Given the description of an element on the screen output the (x, y) to click on. 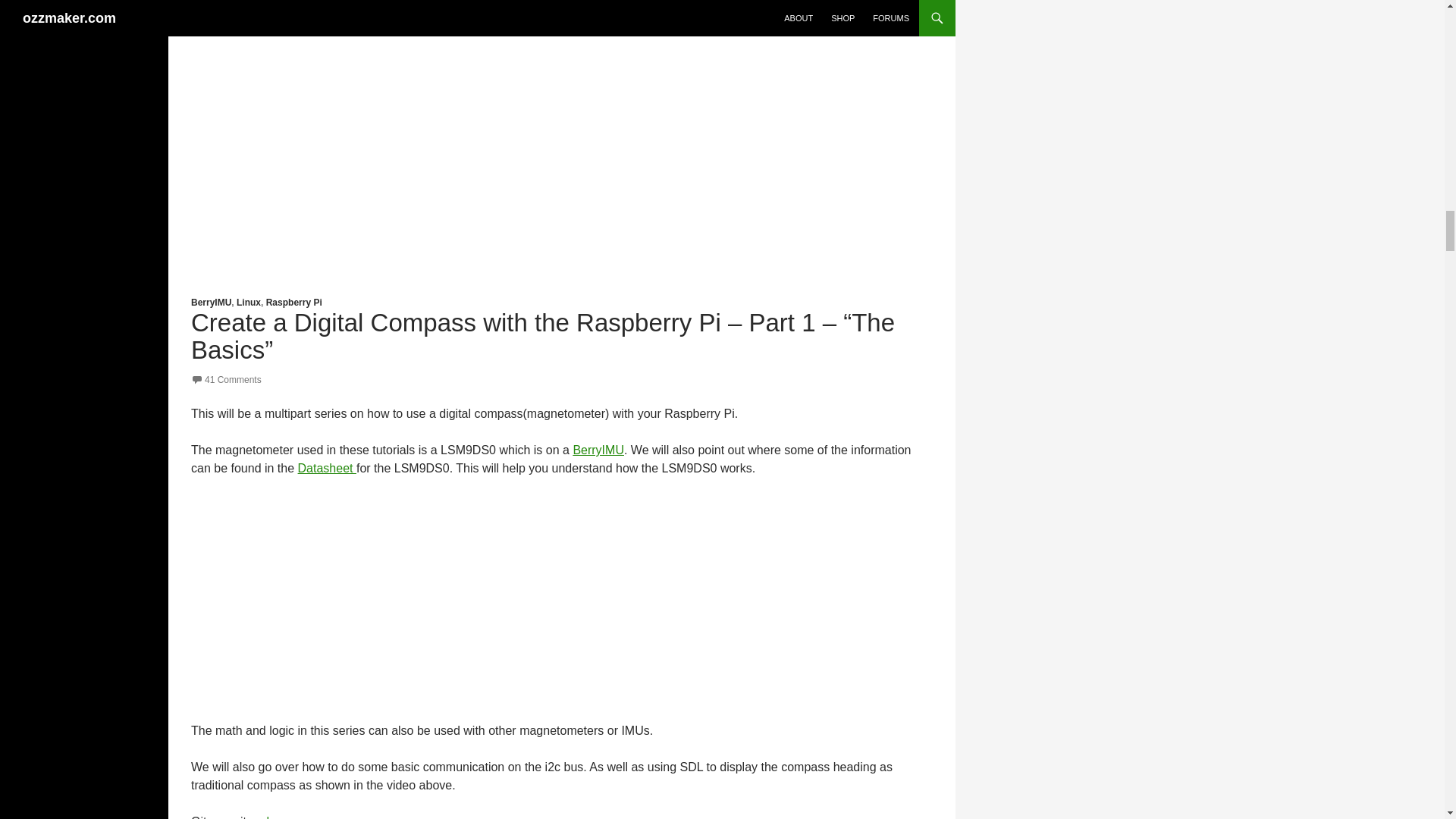
Linux (247, 302)
BerryIMU (210, 302)
